Given the description of an element on the screen output the (x, y) to click on. 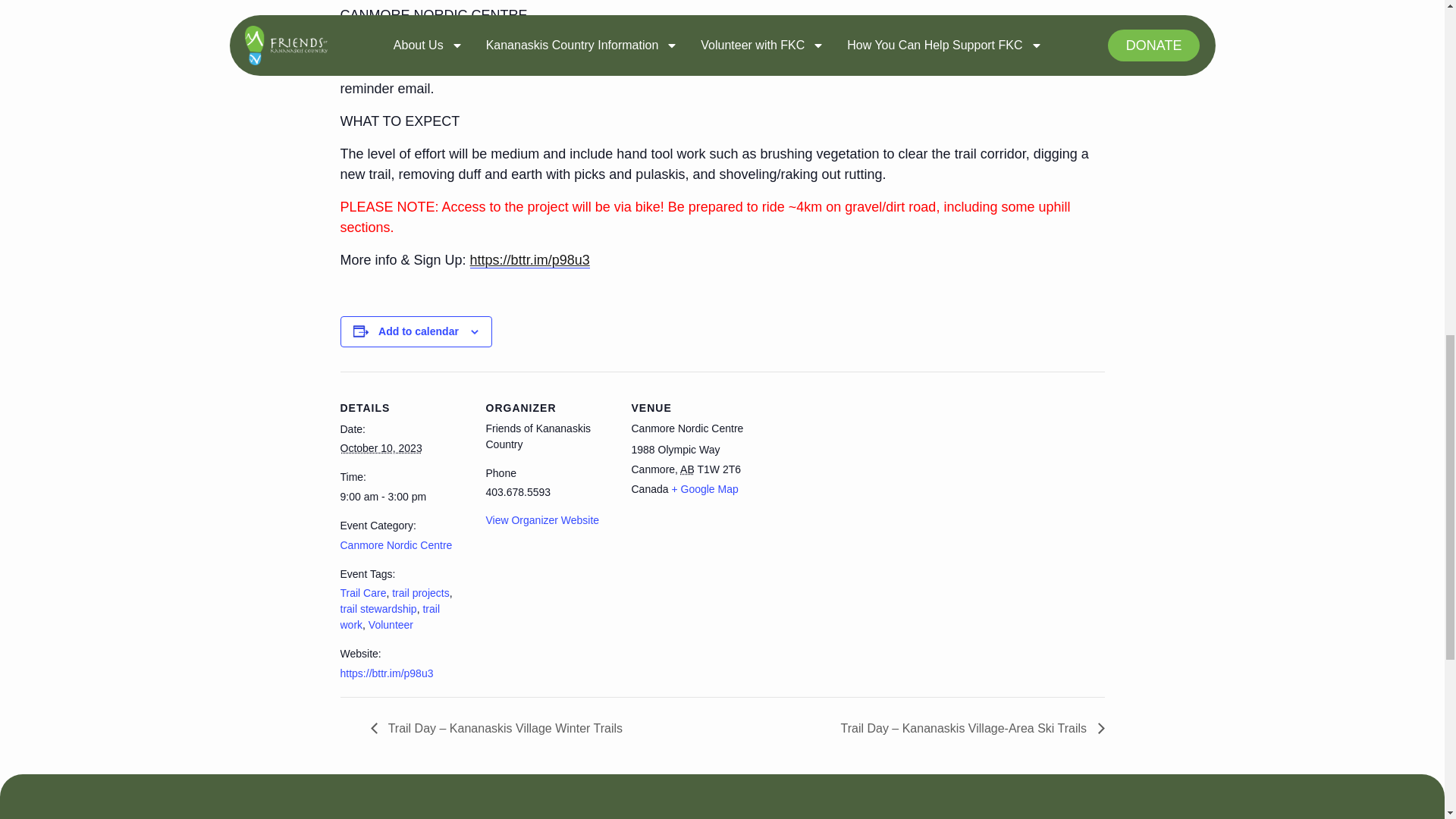
2023-10-10 (380, 448)
2023-10-10 (403, 496)
Click to view a Google Map (704, 489)
AB (686, 469)
